Given the description of an element on the screen output the (x, y) to click on. 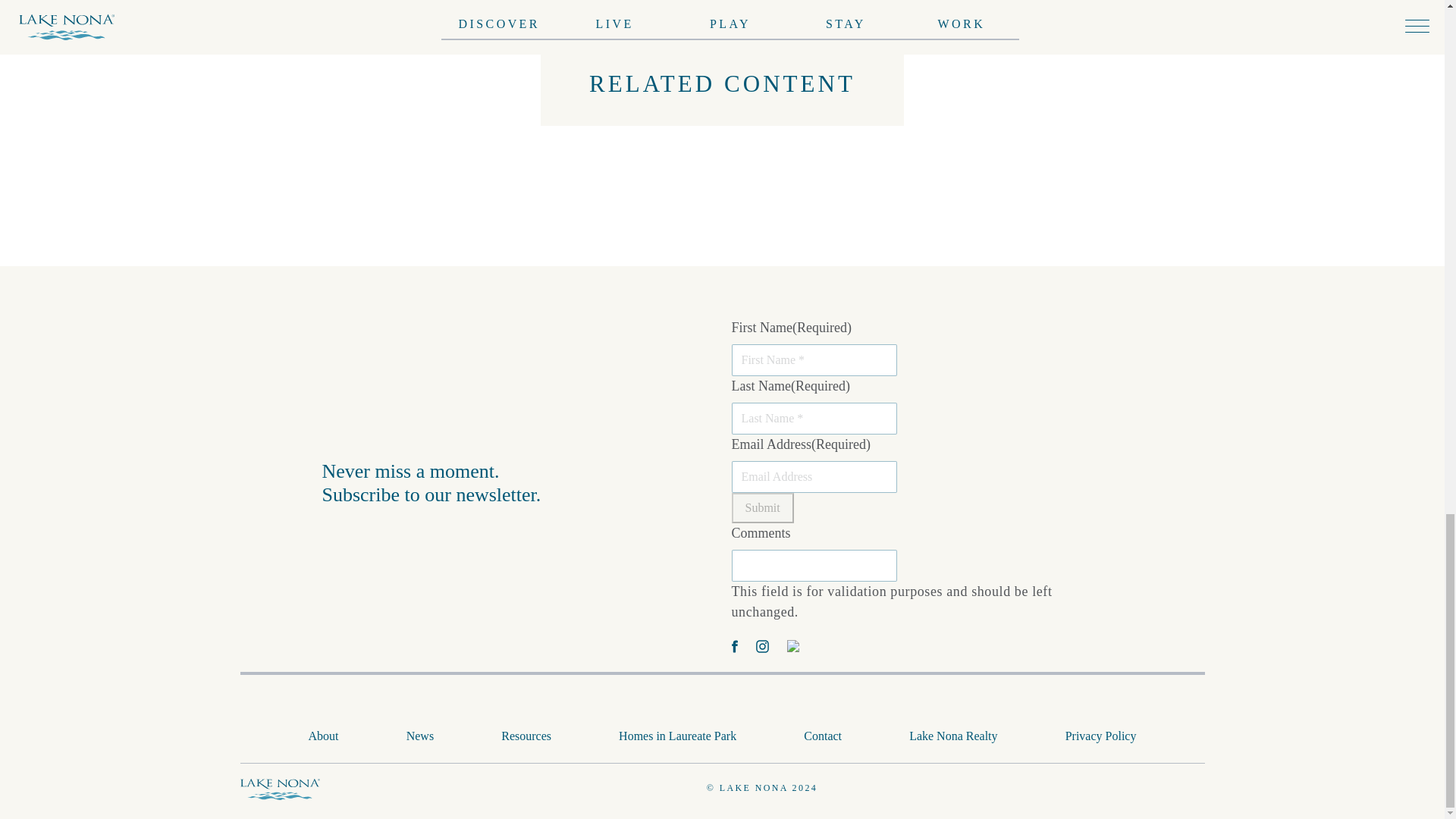
News (419, 735)
About (323, 735)
Resources (525, 735)
Submit (761, 507)
